Given the description of an element on the screen output the (x, y) to click on. 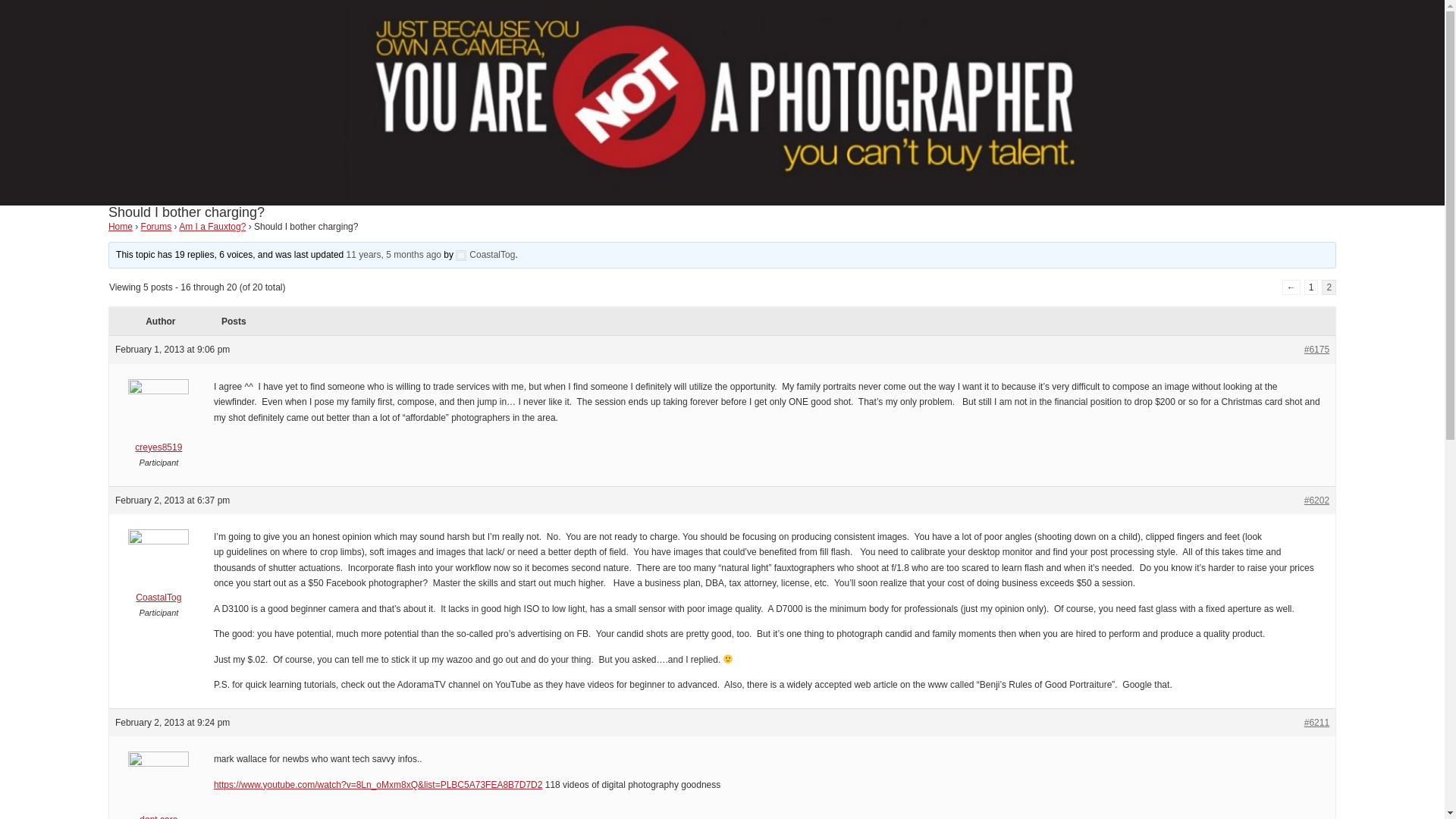
Forums (156, 226)
dont.care (158, 788)
1 (1311, 287)
You Are Not A Photographer (721, 196)
Am I a Fauxtog? (212, 226)
creyes8519 (158, 420)
Home (119, 226)
View CoastalTog's profile (485, 254)
CoastalTog (158, 570)
CoastalTog (485, 254)
Reply To: Should I bother charging? (393, 254)
View CoastalTog's profile (158, 570)
11 years, 5 months ago (393, 254)
View creyes8519's profile (158, 420)
View dont.care's profile (158, 788)
